Given the description of an element on the screen output the (x, y) to click on. 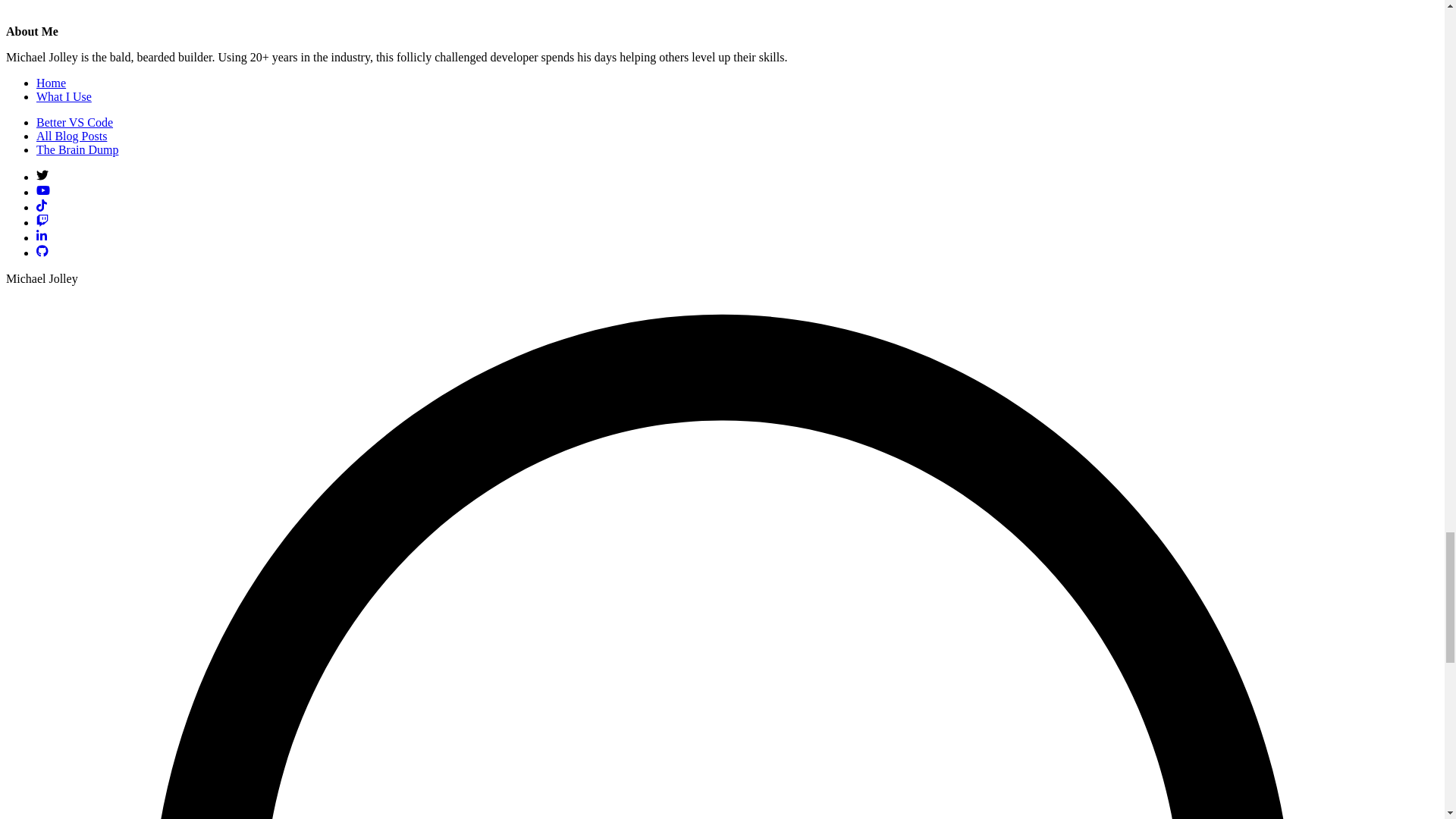
Better VS Code (74, 122)
The Brain Dump (76, 149)
What I Use (63, 96)
All Blog Posts (71, 135)
Home (50, 82)
Follow the musings on Twitter (42, 176)
Yeah. I write code. (42, 252)
Check out the live streams on Twitch (42, 222)
